Given the description of an element on the screen output the (x, y) to click on. 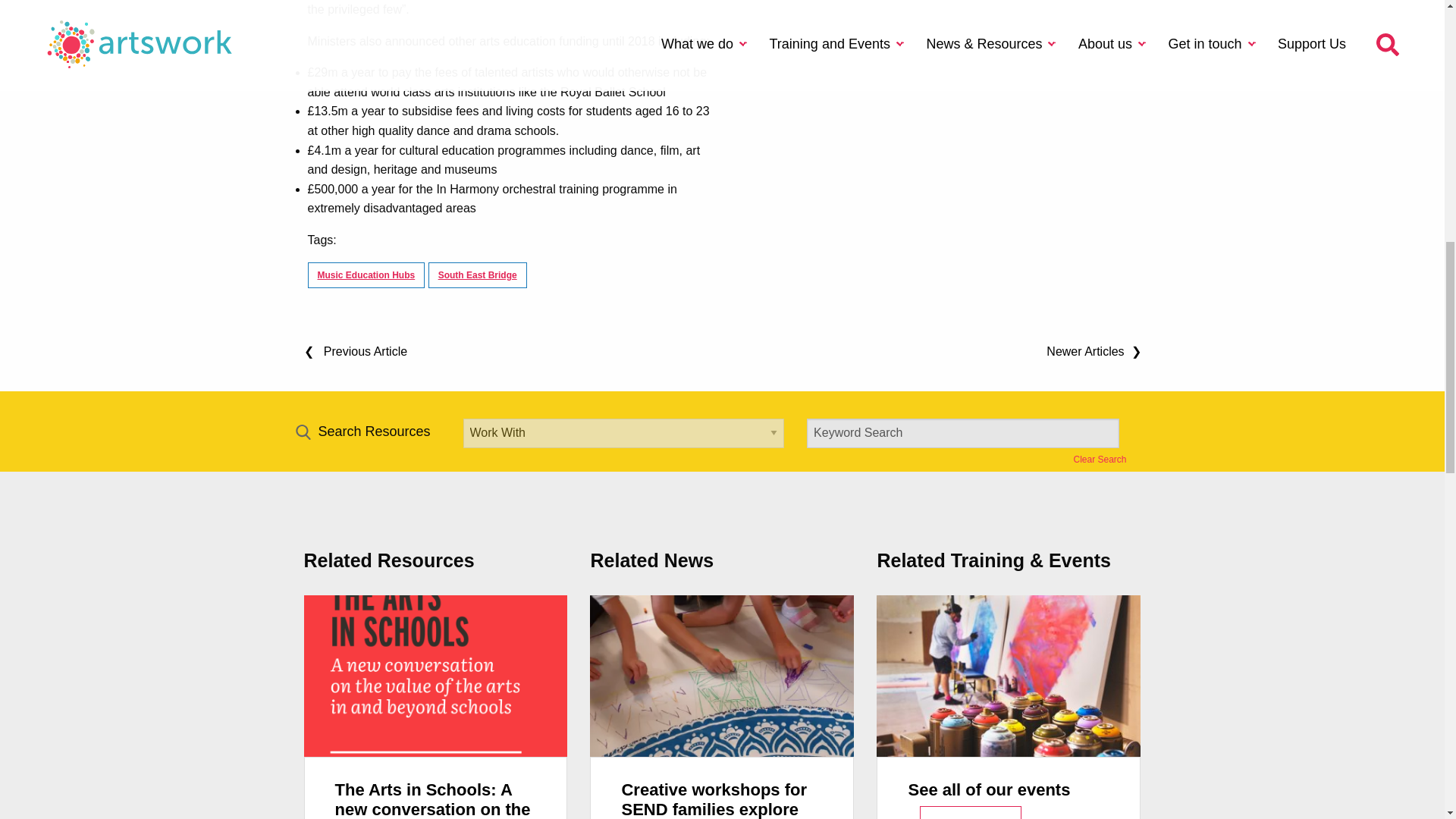
Keyword Search (962, 432)
Music Education Hubs (366, 275)
Clear Search (1099, 459)
South East Bridge (477, 275)
Work With (623, 432)
